Given the description of an element on the screen output the (x, y) to click on. 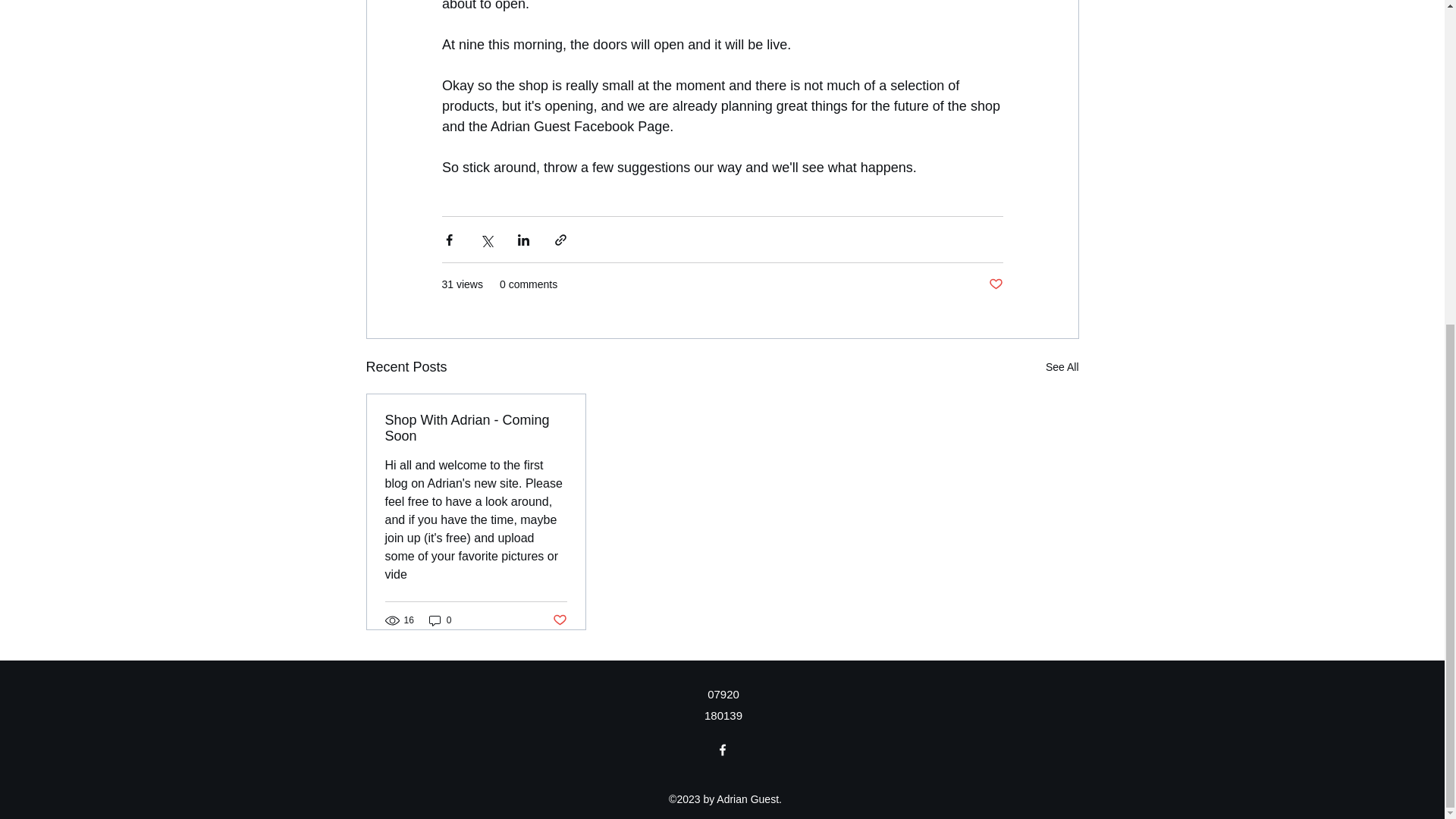
0 (440, 620)
Shop With Adrian - Coming Soon (476, 428)
Post not marked as liked (995, 284)
See All (1061, 367)
Post not marked as liked (558, 620)
